Given the description of an element on the screen output the (x, y) to click on. 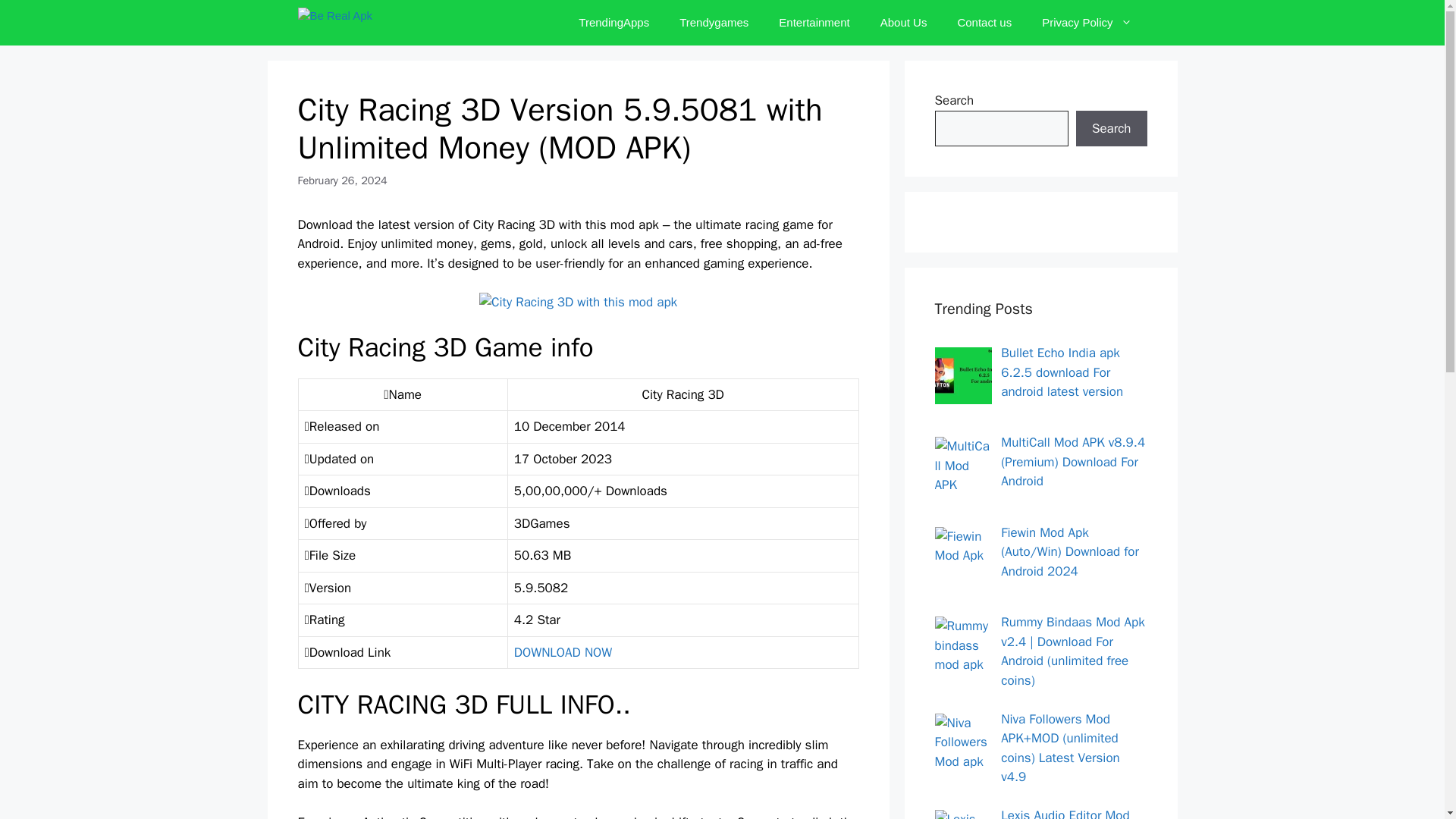
Trendygames (712, 22)
DOWNLOAD NOW (562, 652)
Be Real Apk (369, 22)
Contact us (984, 22)
TrendingApps (613, 22)
City Racing 3D with this mod apk (578, 302)
Privacy Policy (1086, 22)
Search (1111, 128)
About Us (903, 22)
